Given the description of an element on the screen output the (x, y) to click on. 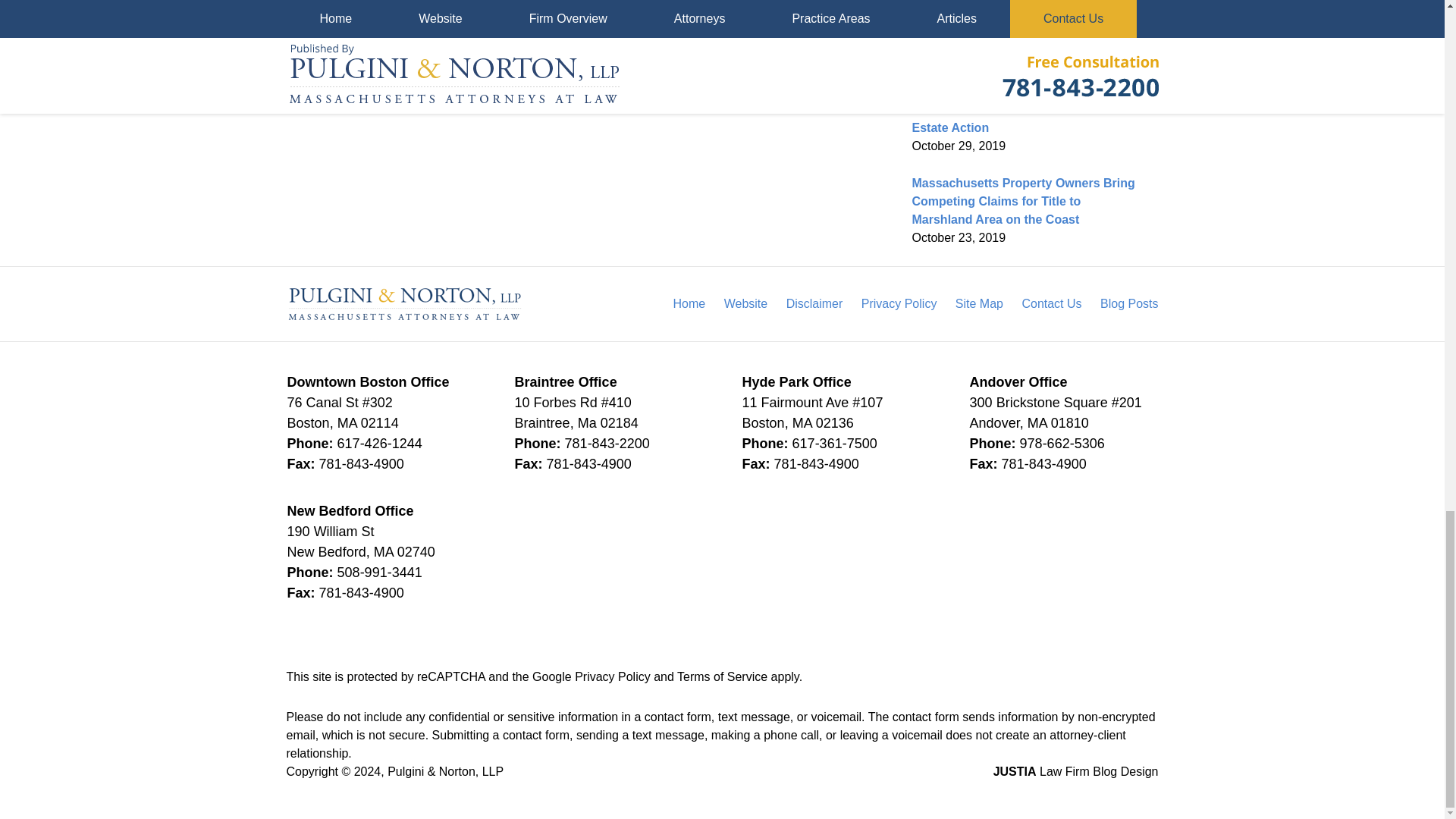
Home (388, 81)
Rental Property (375, 0)
View all posts in Rental Property (375, 0)
